Given the description of an element on the screen output the (x, y) to click on. 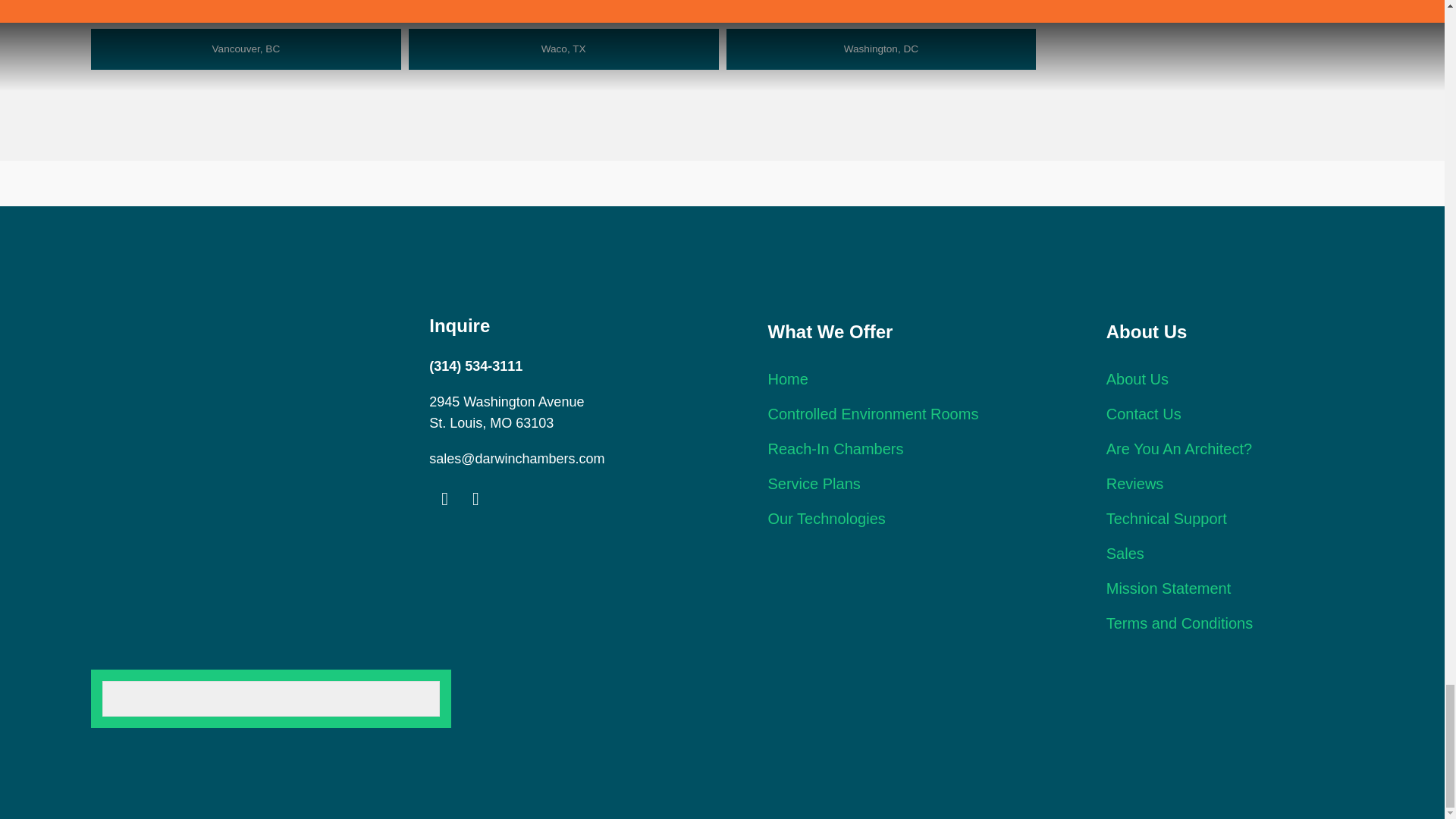
Mission Statement (1168, 588)
Service Plans (813, 483)
Home (787, 379)
About Us (1137, 379)
Technical Support (1166, 518)
Controlled Environment Rooms (872, 413)
Contact Us (1143, 413)
Our Technologies (826, 518)
Reach-In Chambers (834, 448)
Sales (1125, 553)
Reviews (1134, 483)
Are You An Architect? (1179, 448)
